Given the description of an element on the screen output the (x, y) to click on. 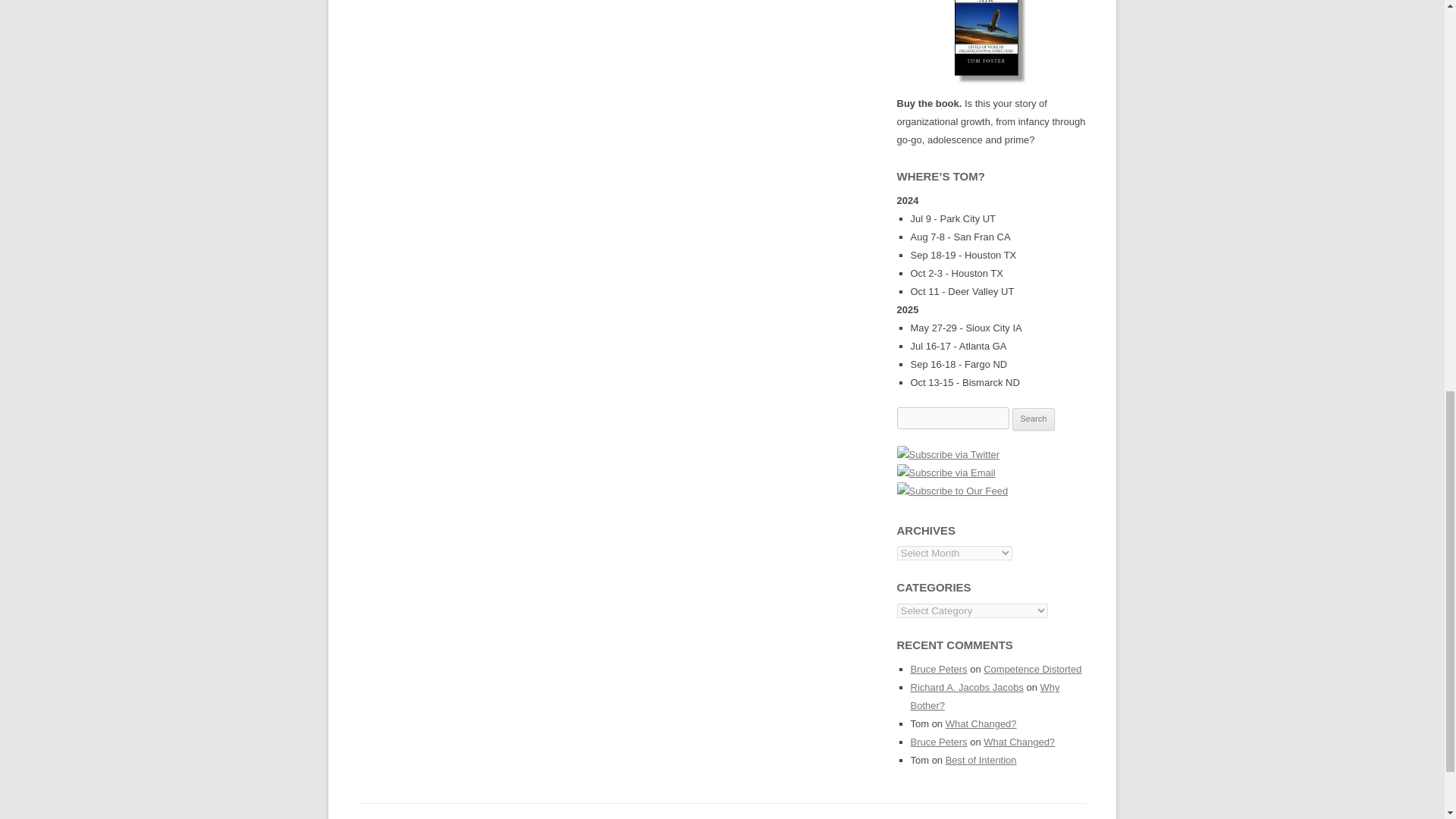
Search (1033, 418)
Why Bother? (984, 696)
Competence Distorted (1032, 668)
Bruce Peters (938, 741)
Bruce Peters (938, 668)
Richard A. Jacobs Jacobs (966, 686)
What Changed? (980, 723)
Search (1033, 418)
